Given the description of an element on the screen output the (x, y) to click on. 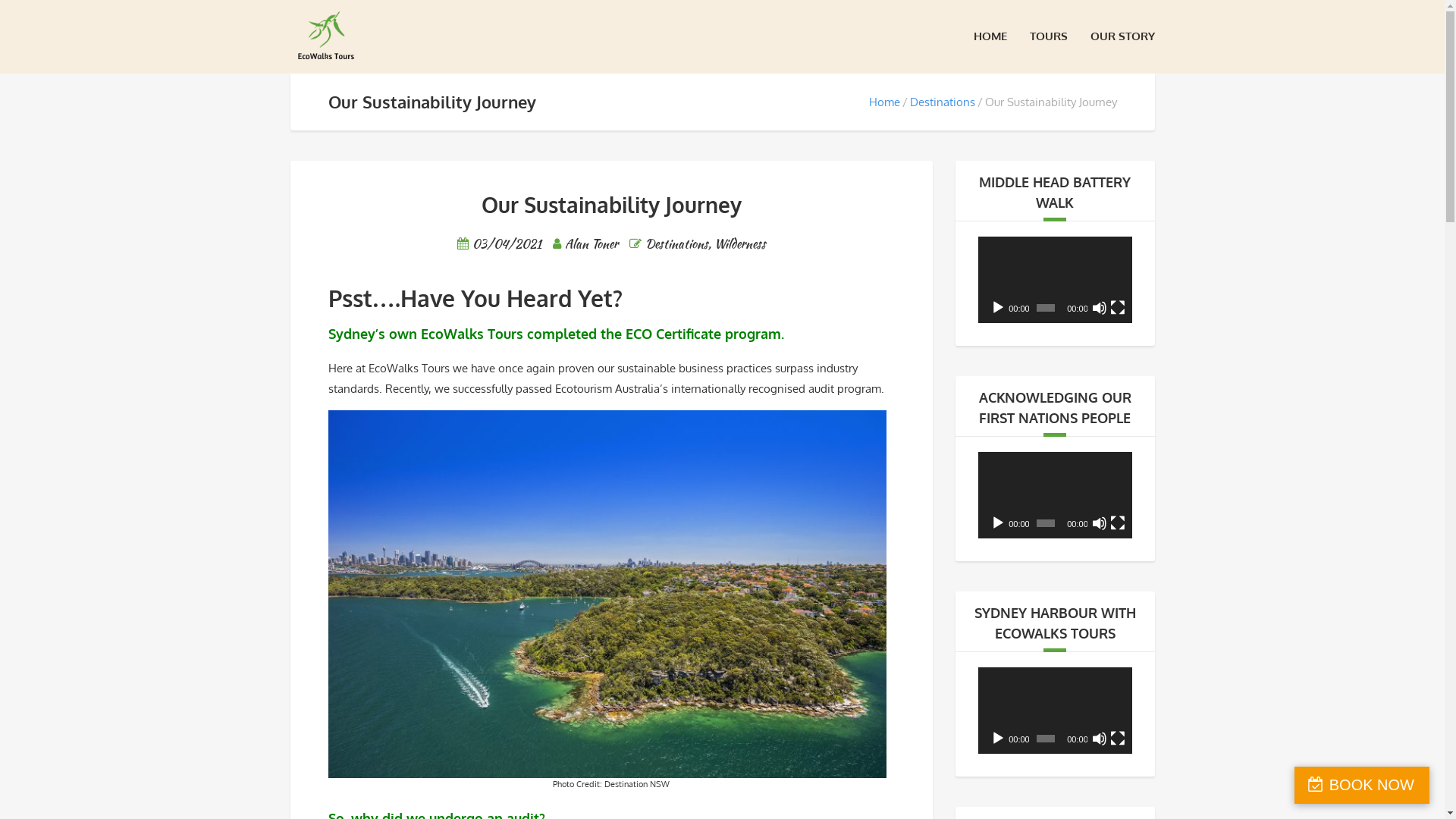
Mute Element type: hover (1099, 522)
Play Element type: hover (997, 522)
Play Element type: hover (997, 307)
Mute Element type: hover (1099, 738)
Play Element type: hover (997, 738)
Fullscreen Element type: hover (1117, 307)
Home Element type: text (884, 101)
Fullscreen Element type: hover (1117, 522)
HOME Element type: text (990, 35)
Alan Toner Element type: text (591, 243)
03/04/2021 Element type: text (506, 243)
OUR STORY Element type: text (1122, 35)
Fullscreen Element type: hover (1117, 738)
Wilderness Element type: text (739, 243)
TOURS Element type: text (1048, 35)
Mute Element type: hover (1099, 307)
Destinations Element type: text (676, 243)
Sydney Walking Tours Element type: hover (325, 37)
BOOK NOW Element type: text (1361, 784)
Destinations Element type: text (942, 101)
